Given the description of an element on the screen output the (x, y) to click on. 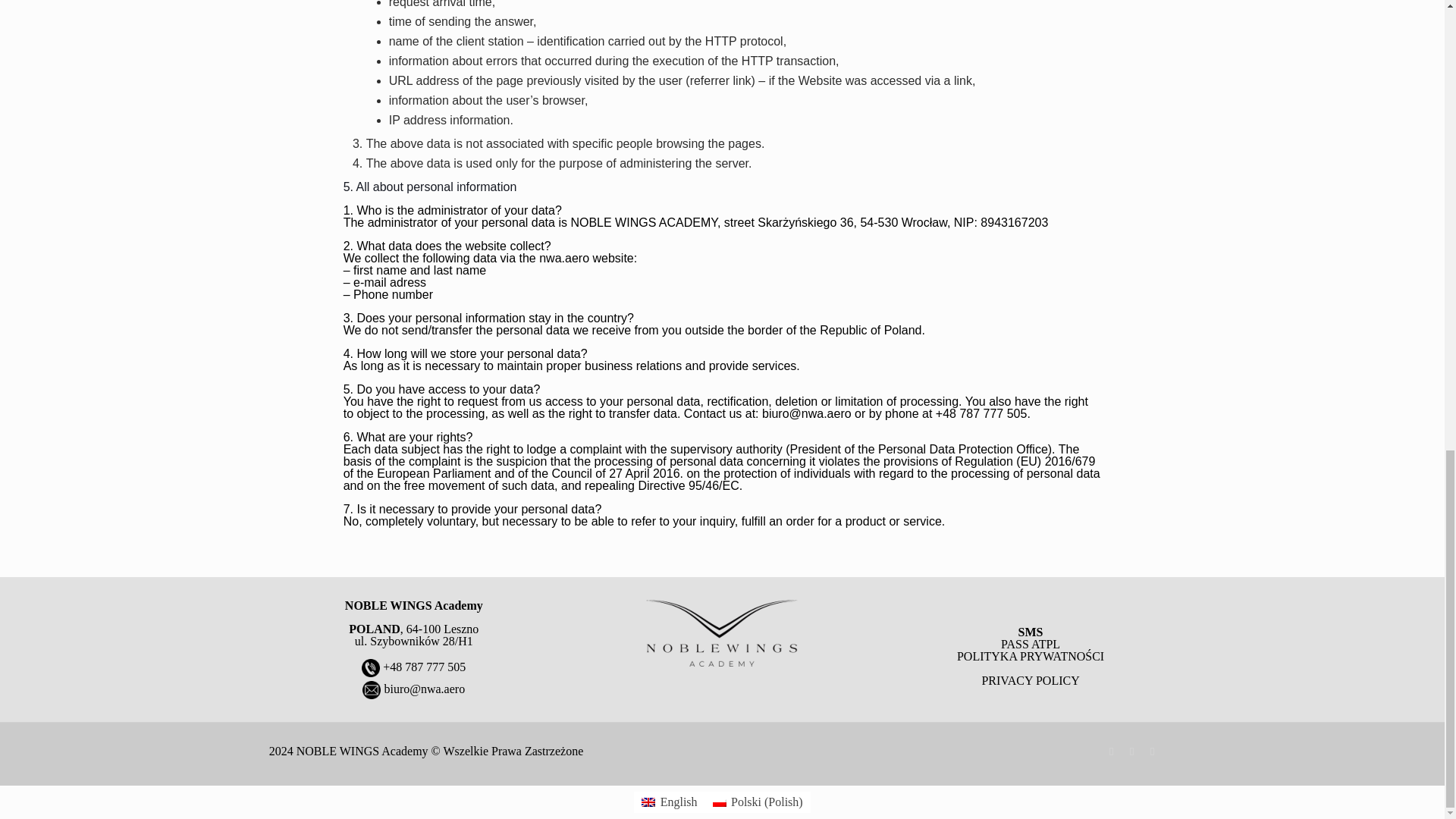
Facebook (1111, 751)
PASS ATPL (1030, 644)
PRIVACY POLICY (1029, 680)
Instagram (1152, 751)
LinkedIn (1132, 751)
SMS (1030, 631)
